Given the description of an element on the screen output the (x, y) to click on. 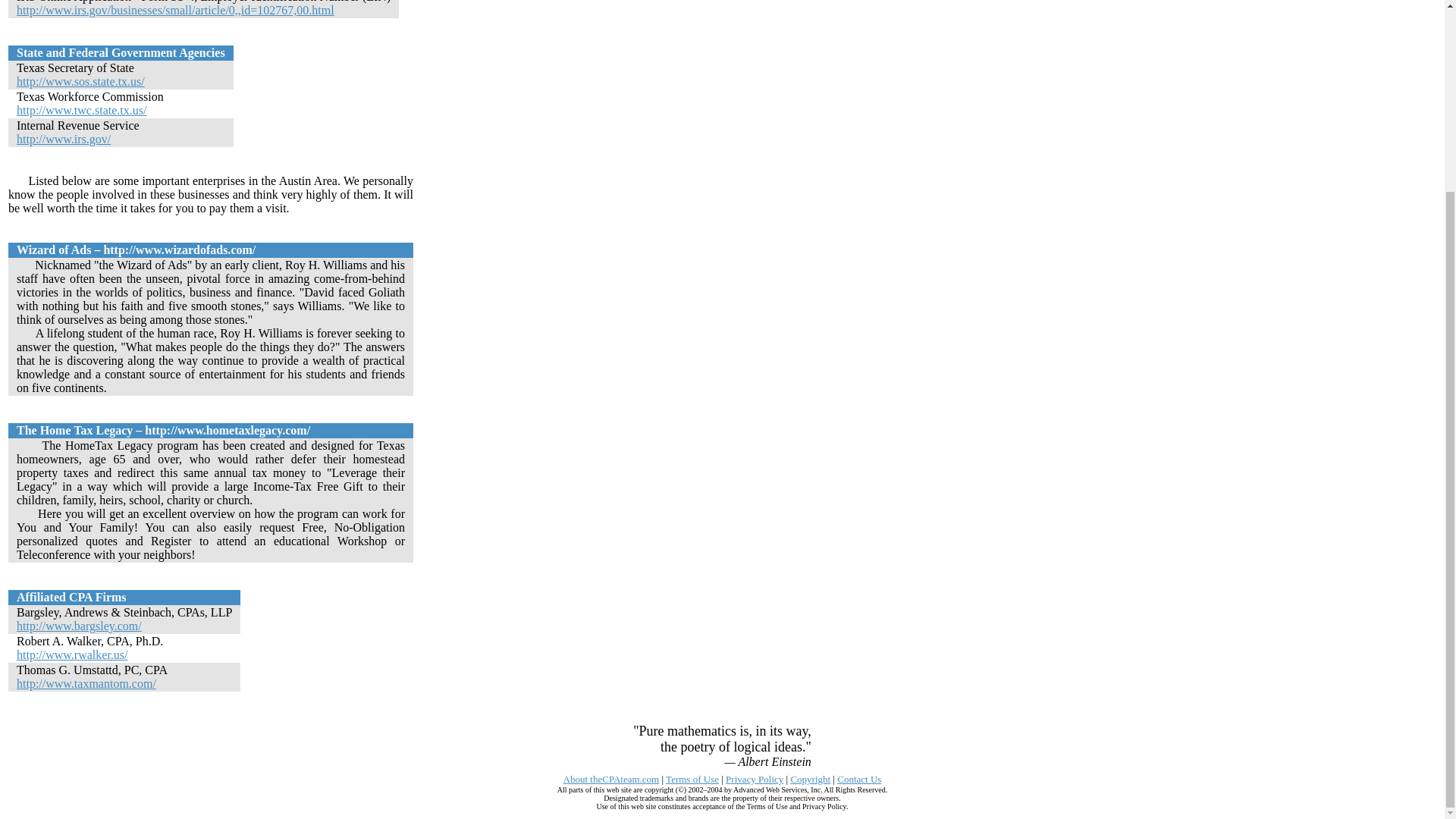
Terms of Use (692, 778)
Copyright (809, 778)
Privacy Policy (754, 778)
About theCPAteam.com (611, 778)
Contact Us (858, 778)
